Given the description of an element on the screen output the (x, y) to click on. 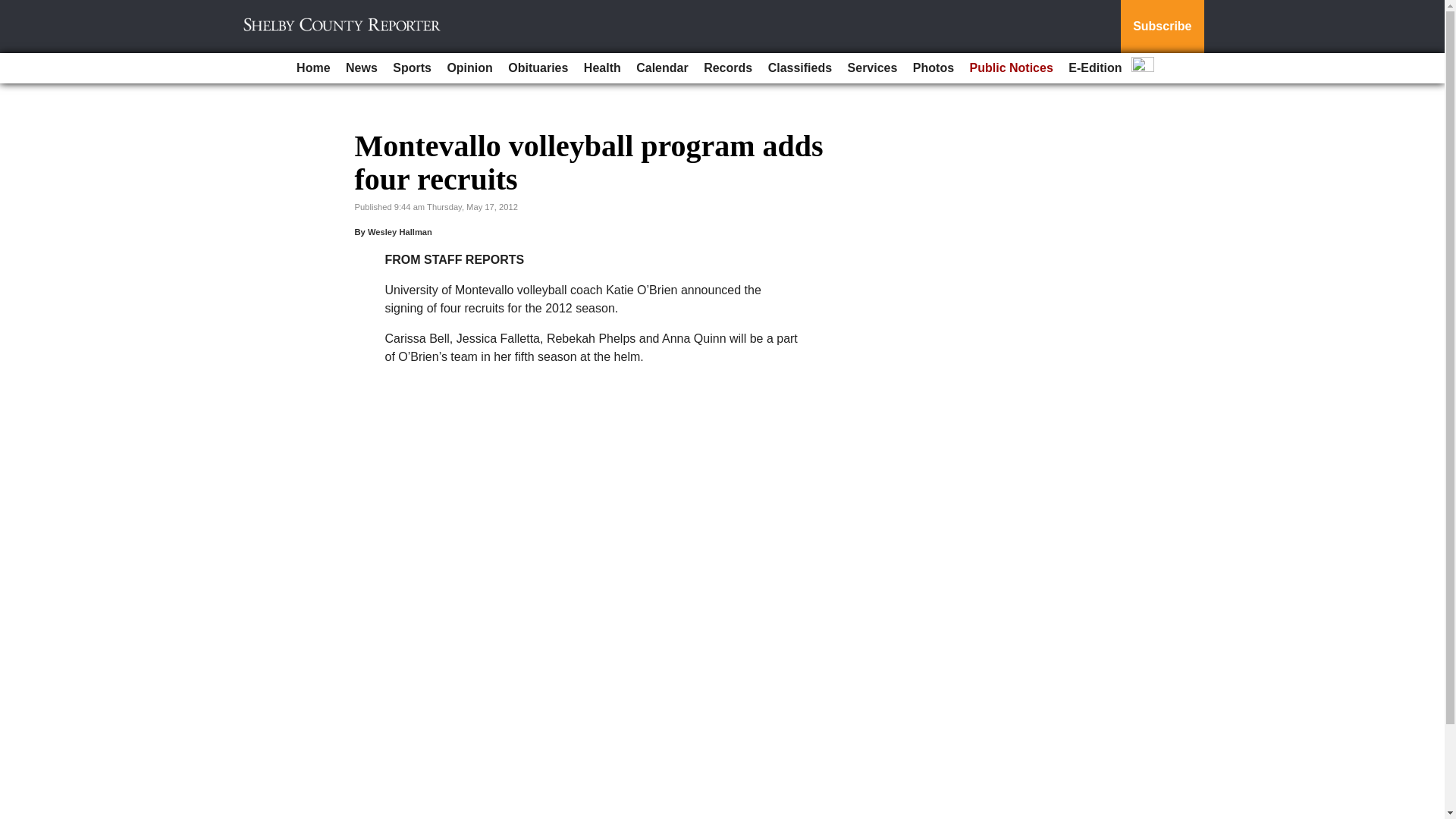
Records (727, 68)
Classifieds (799, 68)
Opinion (469, 68)
Calendar (662, 68)
Obituaries (537, 68)
Sports (412, 68)
Subscribe (1162, 26)
Health (602, 68)
Services (872, 68)
Home (312, 68)
